Given the description of an element on the screen output the (x, y) to click on. 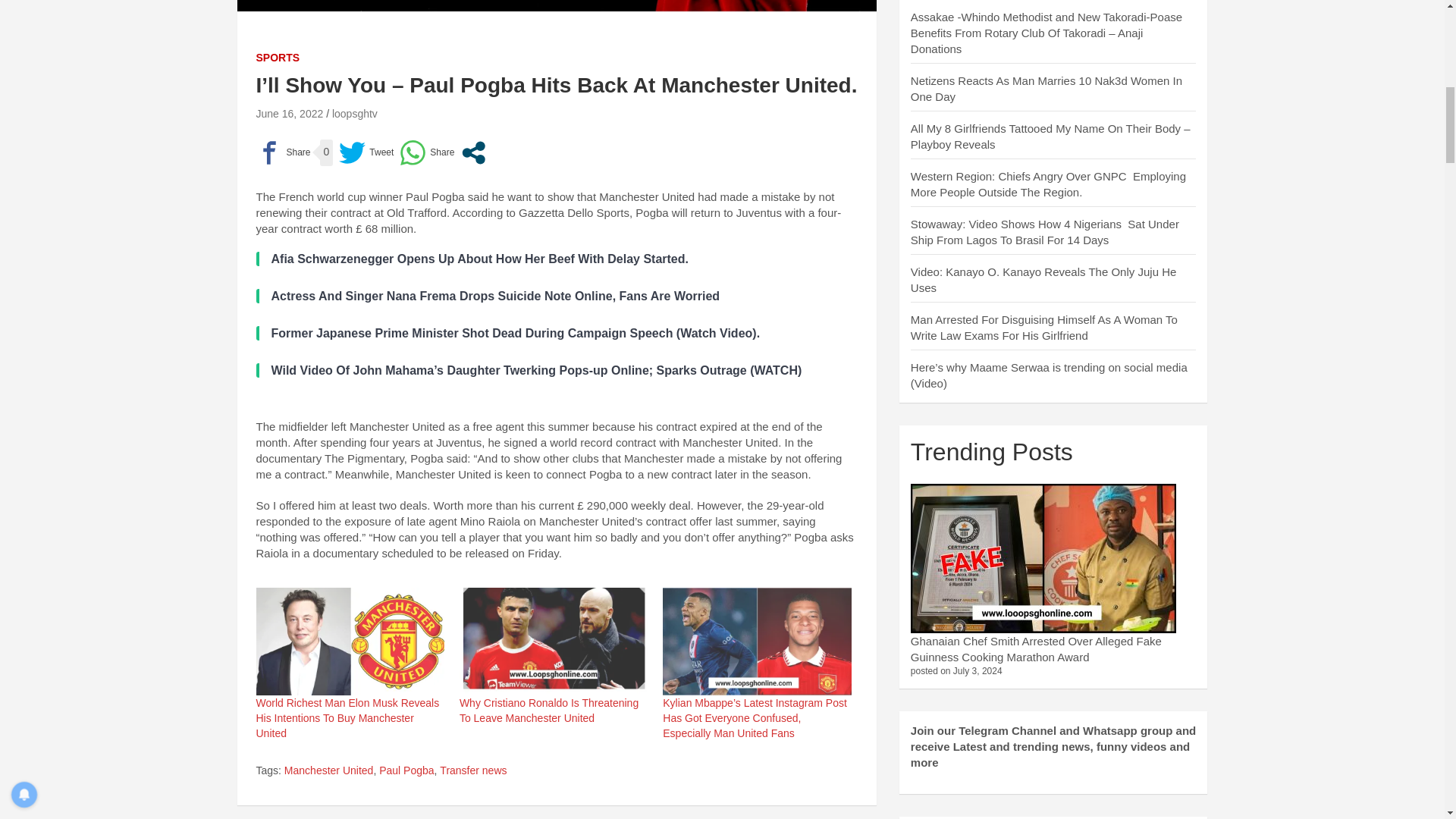
Tweet (366, 152)
June 16, 2022 (289, 113)
Share on Facebook (283, 152)
SPORTS (277, 58)
Share on WhatsApp (426, 152)
loopsghtv (354, 113)
Open modal social networks (473, 152)
